Given the description of an element on the screen output the (x, y) to click on. 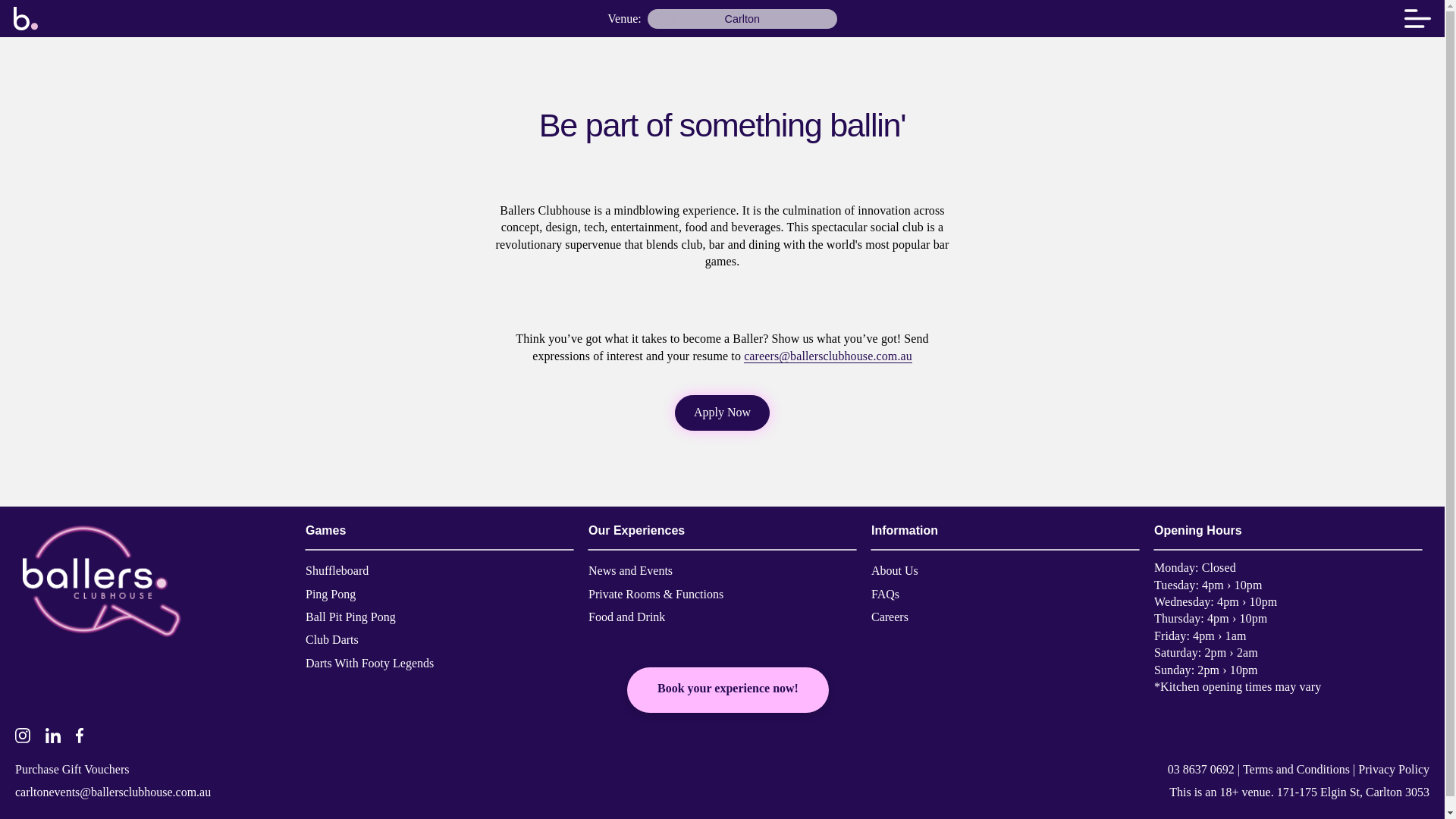
Apply Now (722, 412)
03 8637 0692 (1200, 772)
Terms and Conditions (1296, 772)
Ball Pit Ping Pong (350, 619)
Ping Pong (330, 596)
Shuffleboard (336, 573)
Club Darts (331, 642)
About Us (894, 573)
Purchase Gift Vouchers (71, 772)
Darts With Footy Legends (369, 665)
